Given the description of an element on the screen output the (x, y) to click on. 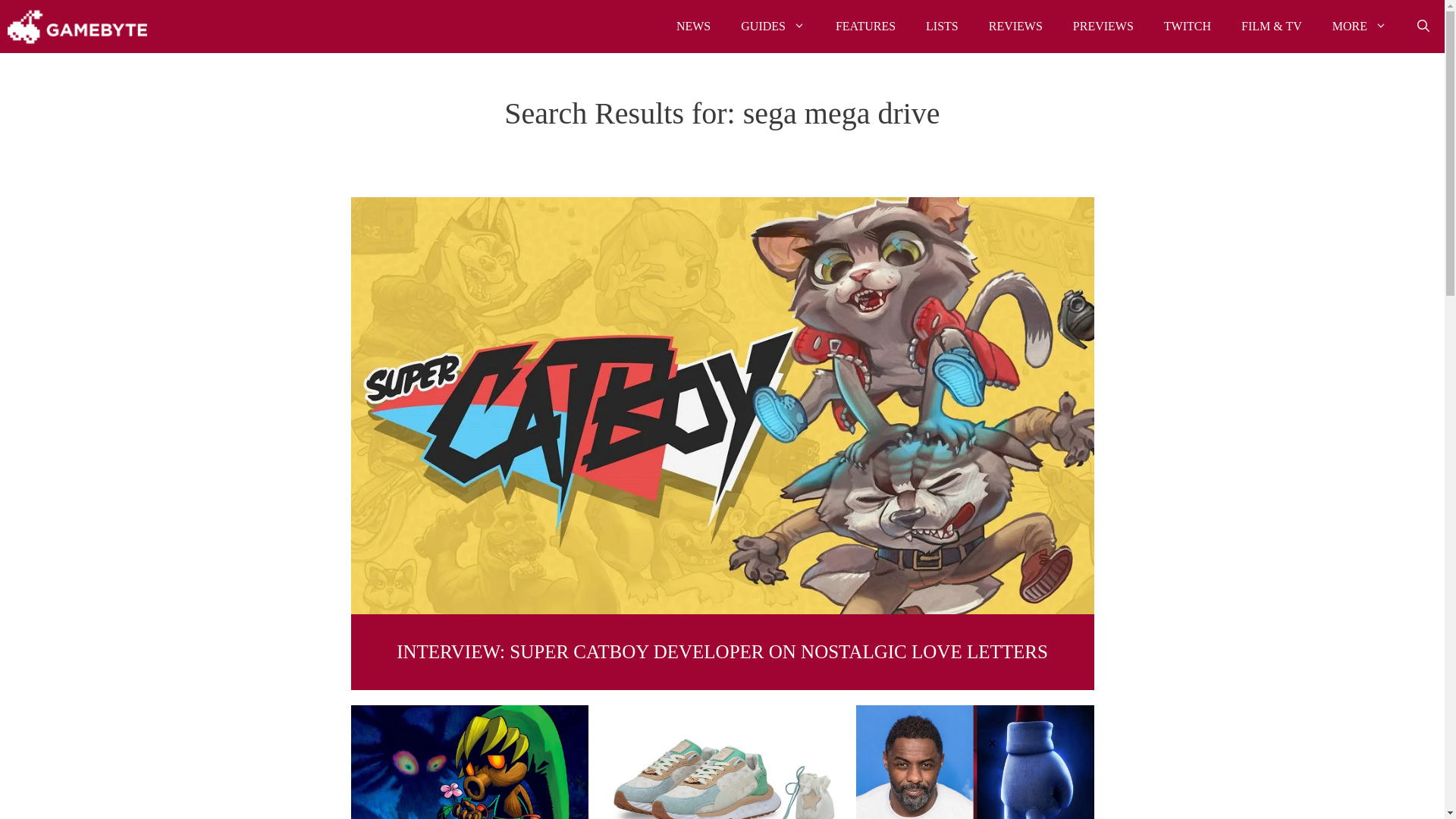
GUIDES (773, 26)
GameByte (77, 26)
PUMA TEASES NEW ANIMAL CROSSING INSPIRED SNEAKER COLLECTION (722, 762)
NEWS (693, 26)
